Given the description of an element on the screen output the (x, y) to click on. 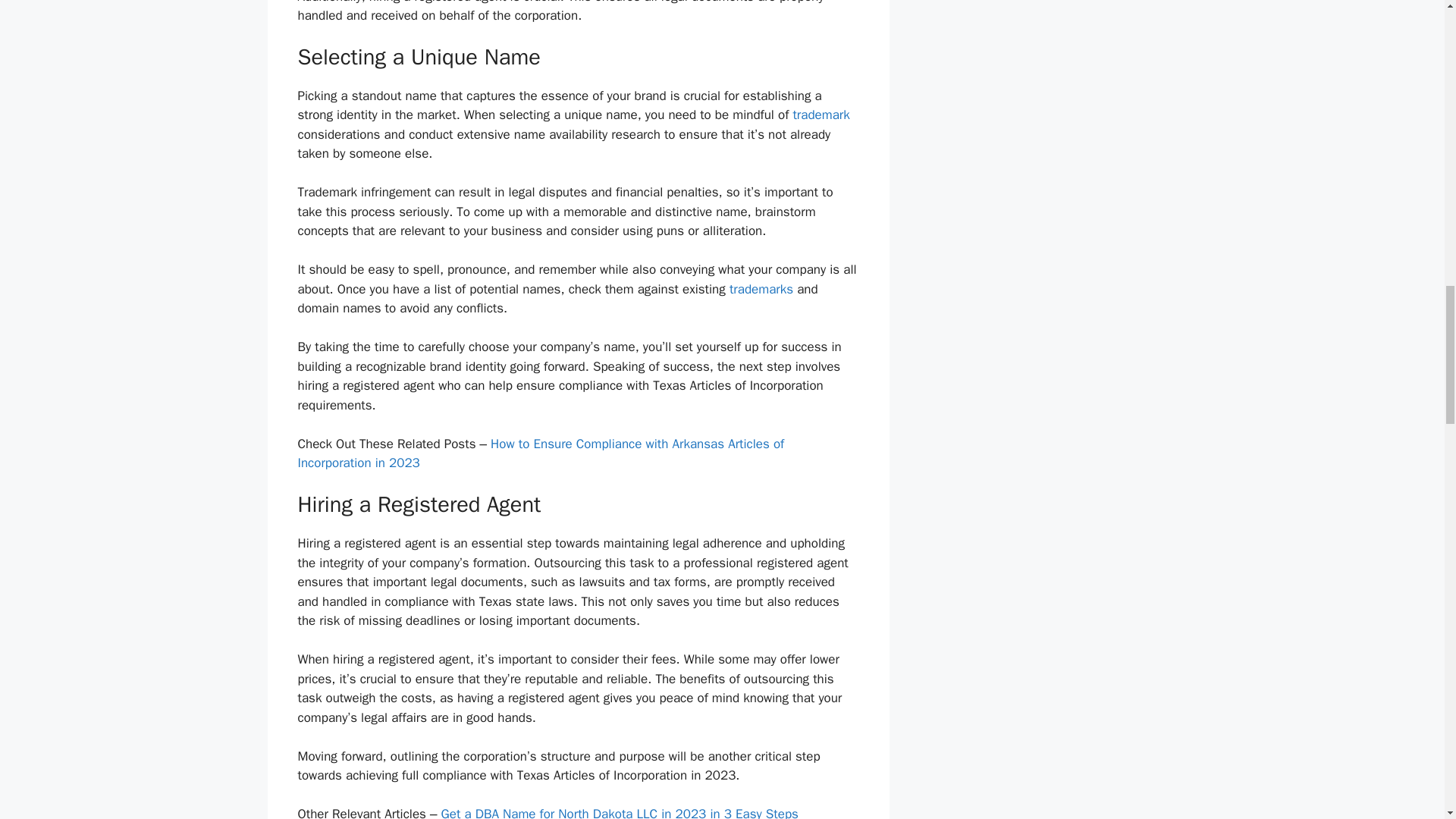
The Ultimate Guide to Trademark Services in 2023 (820, 114)
Get a DBA Name for North Dakota LLC in 2023 in 3 Easy Steps (619, 812)
trademarks (761, 289)
The Ultimate Guide to Trademark Services in 2023 (761, 289)
trademark (820, 114)
